Given the description of an element on the screen output the (x, y) to click on. 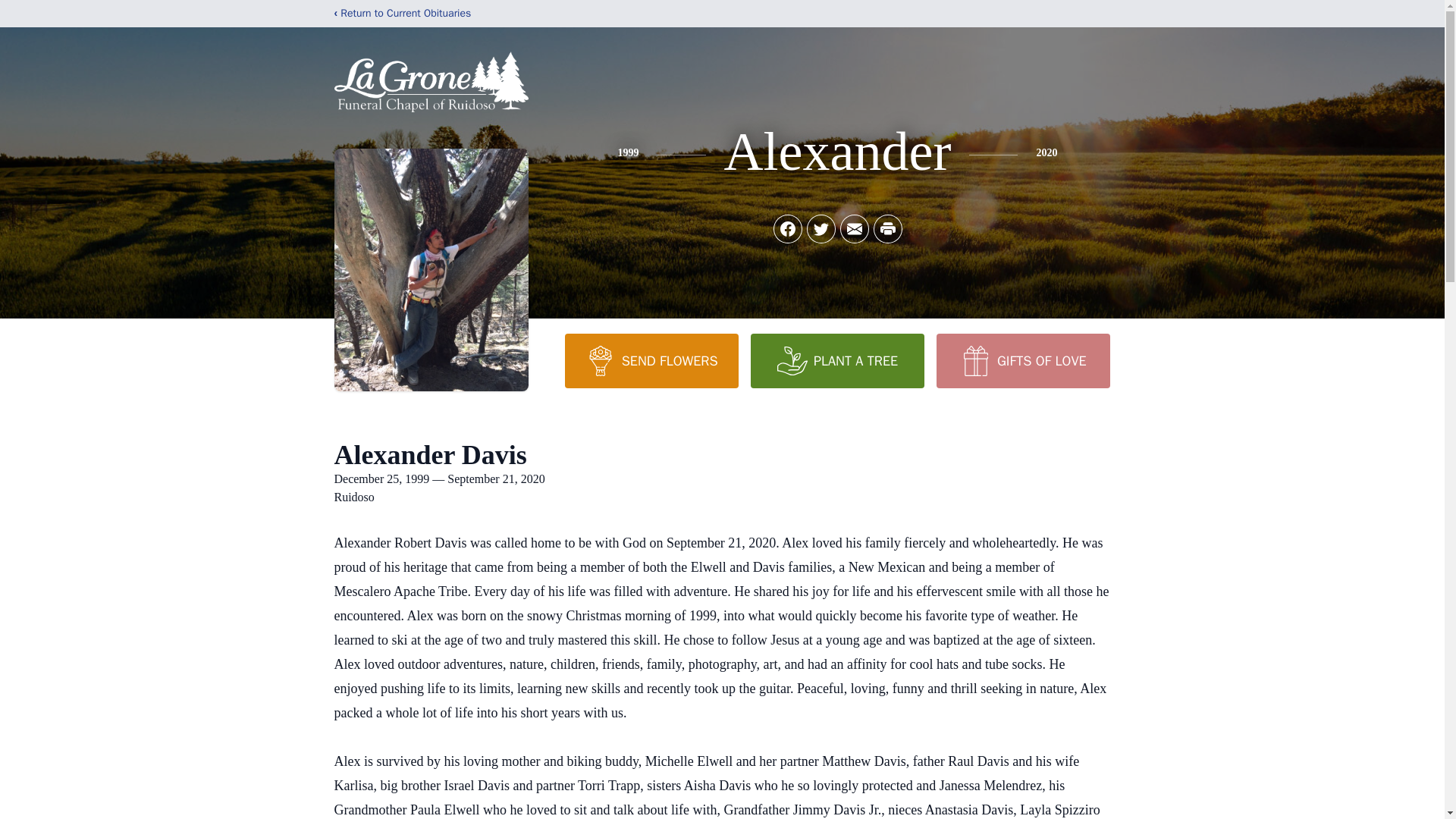
PLANT A TREE (837, 360)
GIFTS OF LOVE (1022, 360)
SEND FLOWERS (651, 360)
